Given the description of an element on the screen output the (x, y) to click on. 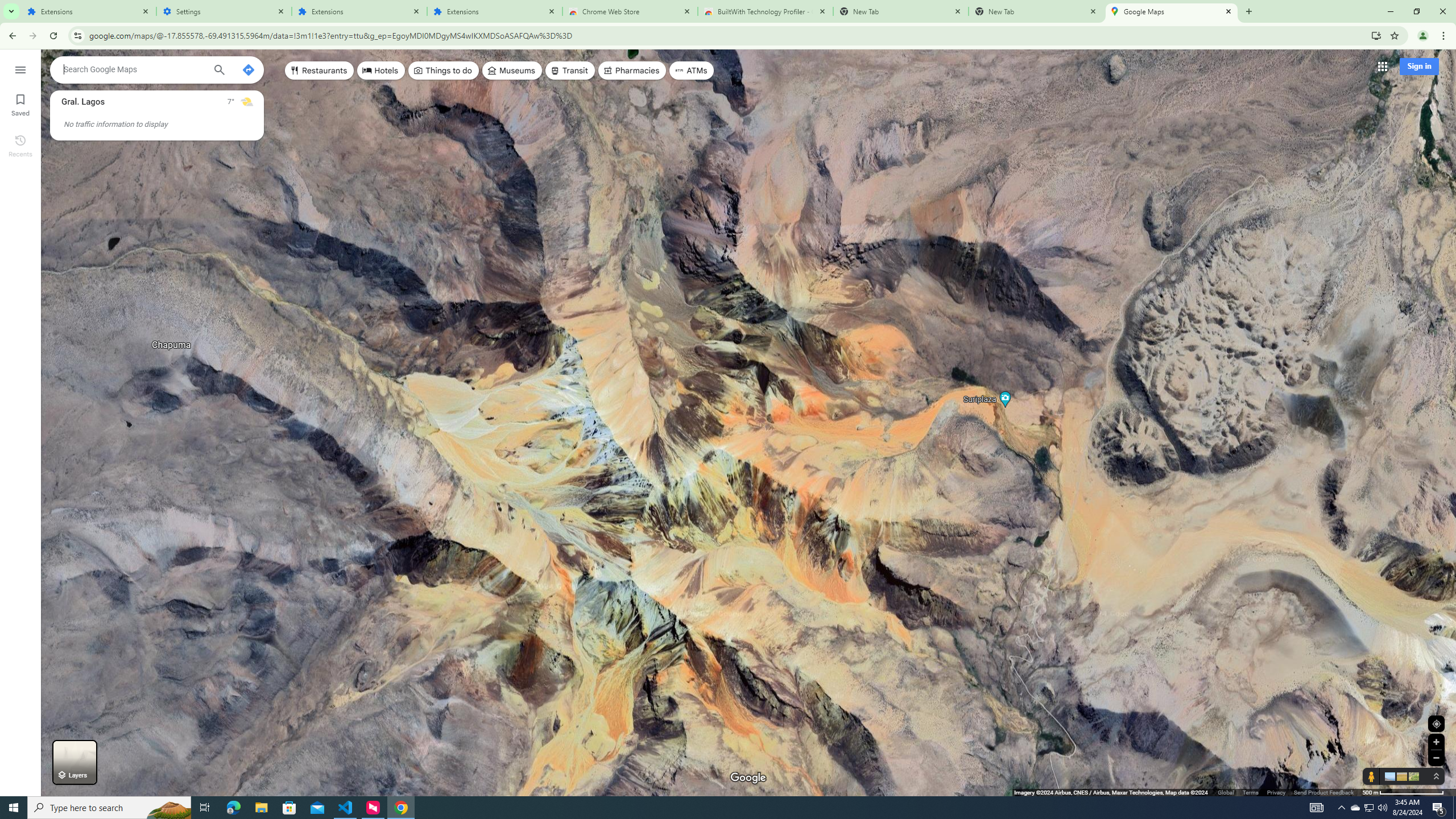
Pharmacies (632, 70)
Things to do (443, 70)
Google Maps (1171, 11)
Hotels (381, 70)
Extensions (359, 11)
Show Your Location (1436, 723)
Restaurants (319, 70)
Transit (569, 70)
Zoom in (1436, 741)
Recents (20, 145)
Global (1225, 792)
